Given the description of an element on the screen output the (x, y) to click on. 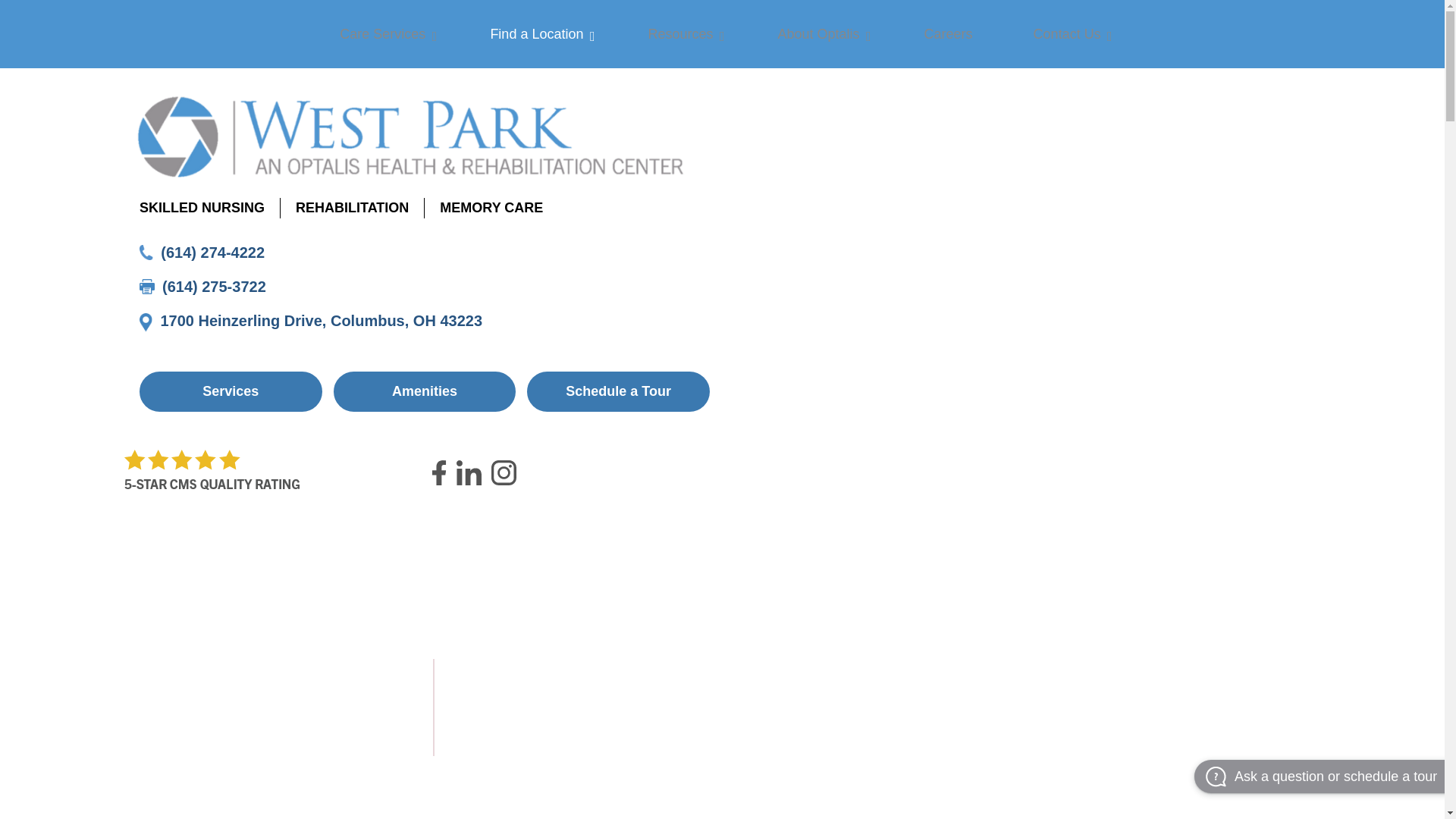
Find a Location (538, 33)
Care Services (384, 33)
